Given the description of an element on the screen output the (x, y) to click on. 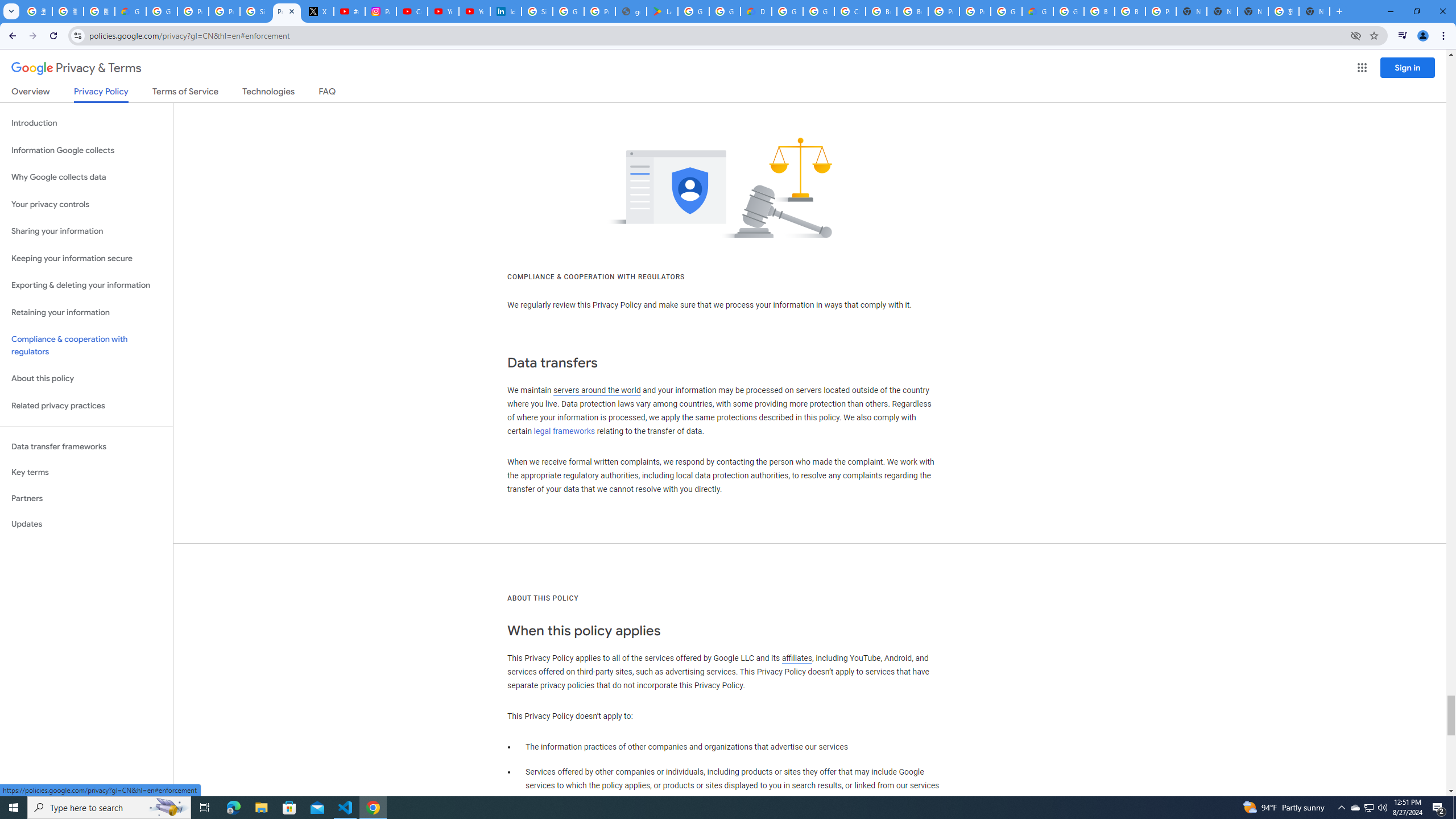
affiliates (796, 657)
Related privacy practices (86, 405)
New Tab (1314, 11)
